Given the description of an element on the screen output the (x, y) to click on. 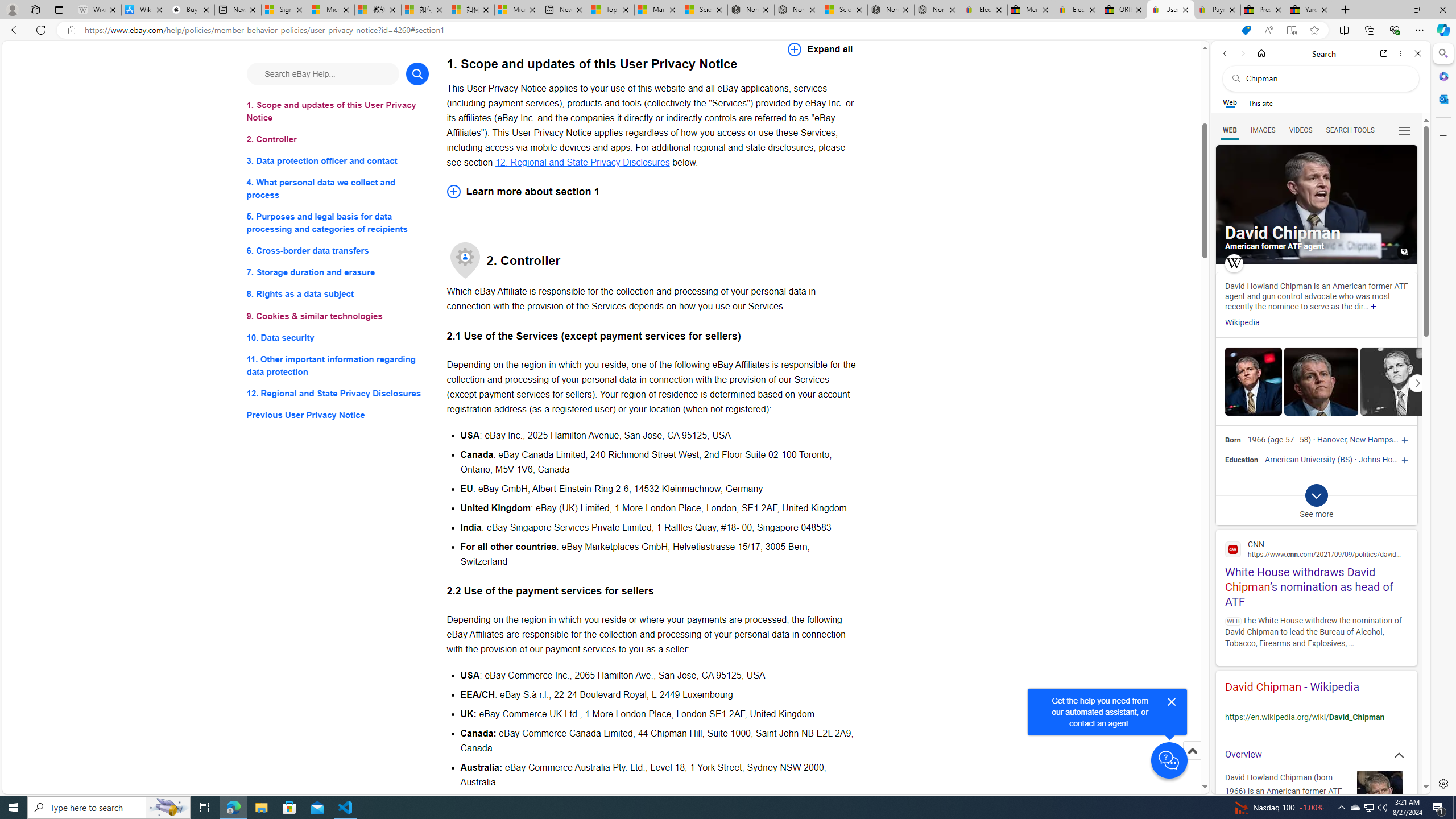
SEARCH TOOLS (1350, 130)
Enter Immersive Reader (F9) (1291, 29)
11. Other important information regarding data protection (337, 365)
7. Storage duration and erasure (337, 272)
Search Filter, IMAGES (1262, 129)
Search Filter, WEB (1230, 129)
3. Data protection officer and contact (337, 160)
